Given the description of an element on the screen output the (x, y) to click on. 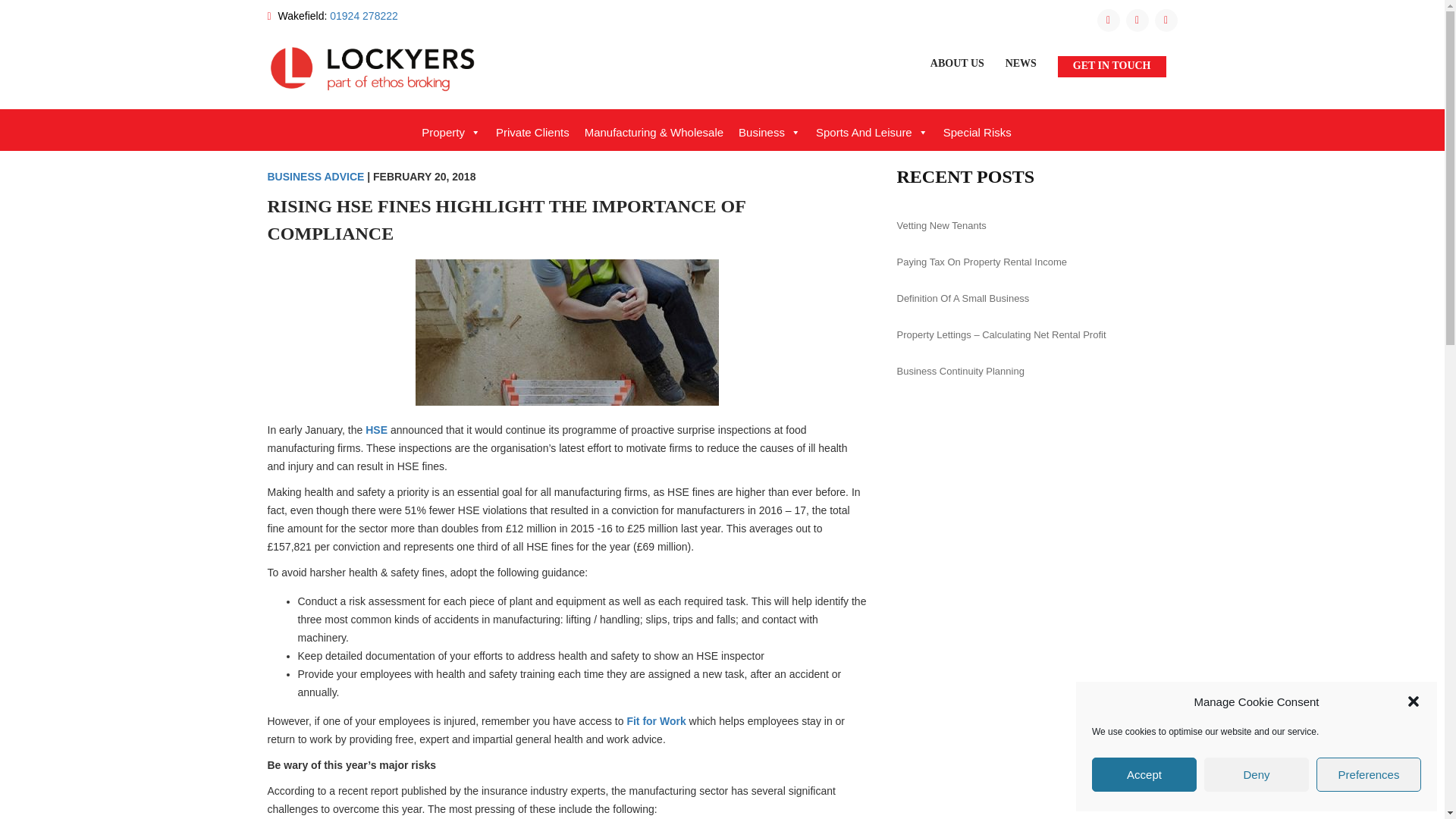
Private Clients (531, 132)
Accept (1144, 774)
ABOUT US (957, 64)
Property (450, 132)
01924 278222 (363, 15)
Rising HSE fines highlight the importance of compliance (566, 331)
Deny (1256, 774)
GET IN TOUCH (1112, 66)
NEWS (1021, 64)
Why Choose Lockyers (1014, 95)
